Given the description of an element on the screen output the (x, y) to click on. 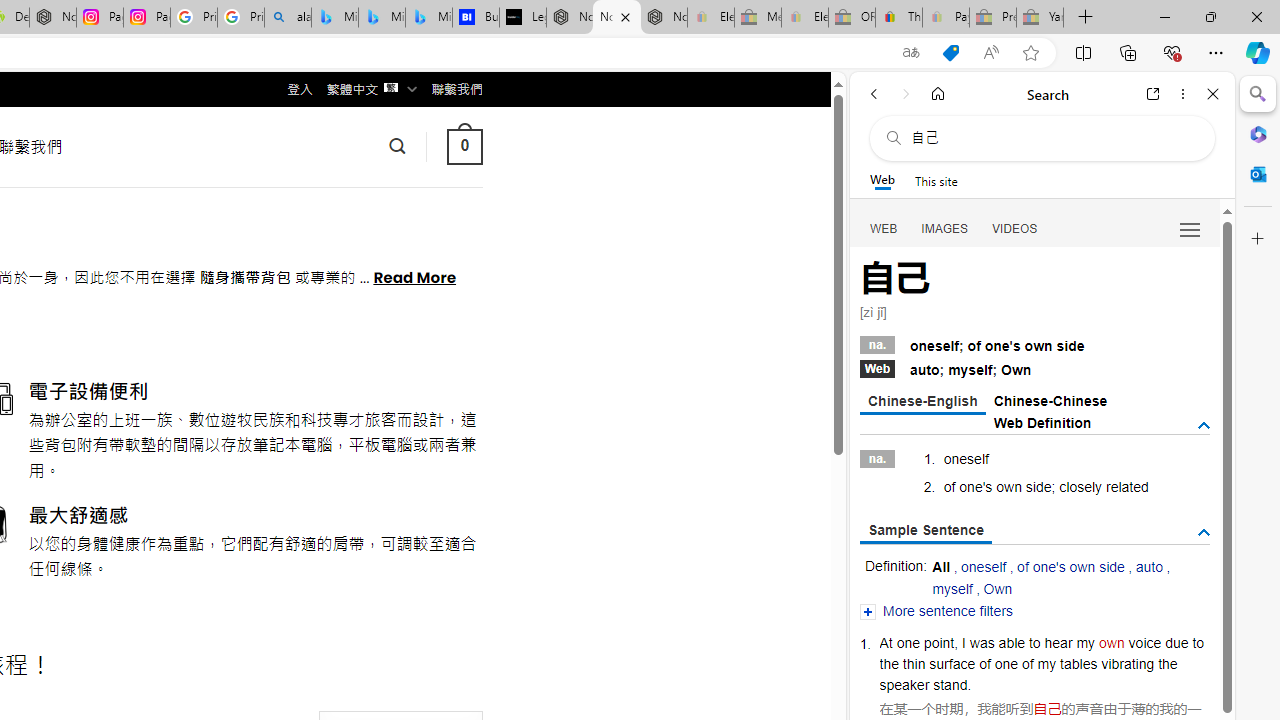
I (964, 642)
